Given the description of an element on the screen output the (x, y) to click on. 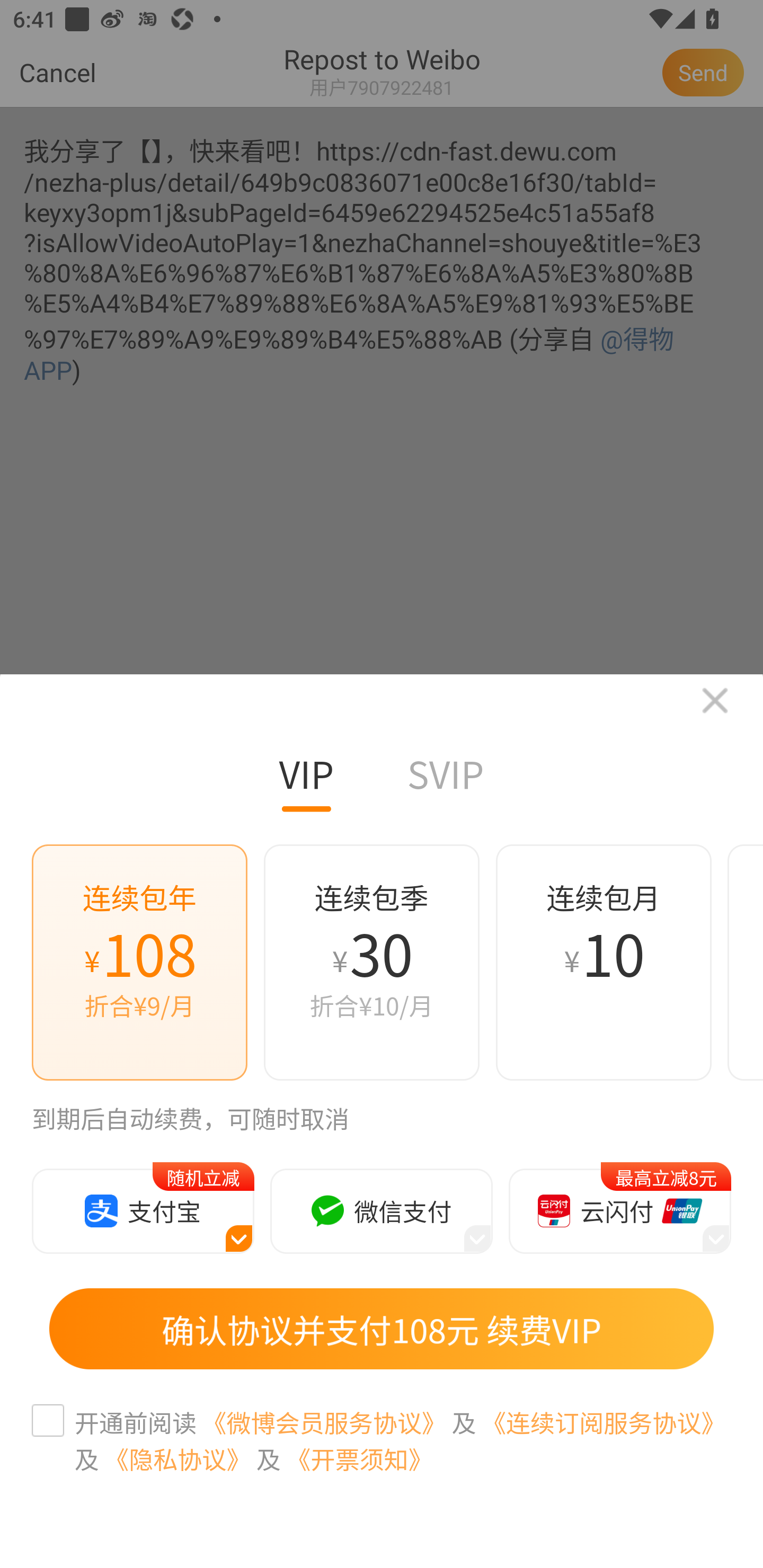
VIP (306, 783)
SVIP (445, 783)
连续包年 ¥ 108 折合¥9/月 (139, 971)
连续包季 ¥ 30 折合¥10/月 (370, 971)
连续包月 ¥ 10 (602, 971)
到期后自动续费，可随时取消 (190, 1124)
DZ+sVAAAAAElFTkSuQmCC 支付宝 随机立减 (143, 1210)
5DYV910wbmcOxAAAAAElFTkSuQmCC 微信支付 (381, 1210)
确认协议并支付108元 续费VIP (381, 1328)
《微博会员服务协议》 (324, 1421)
《连续订阅服务协议》 (602, 1421)
《隐私协议》 (177, 1458)
《开票须知》 (360, 1458)
